Given the description of an element on the screen output the (x, y) to click on. 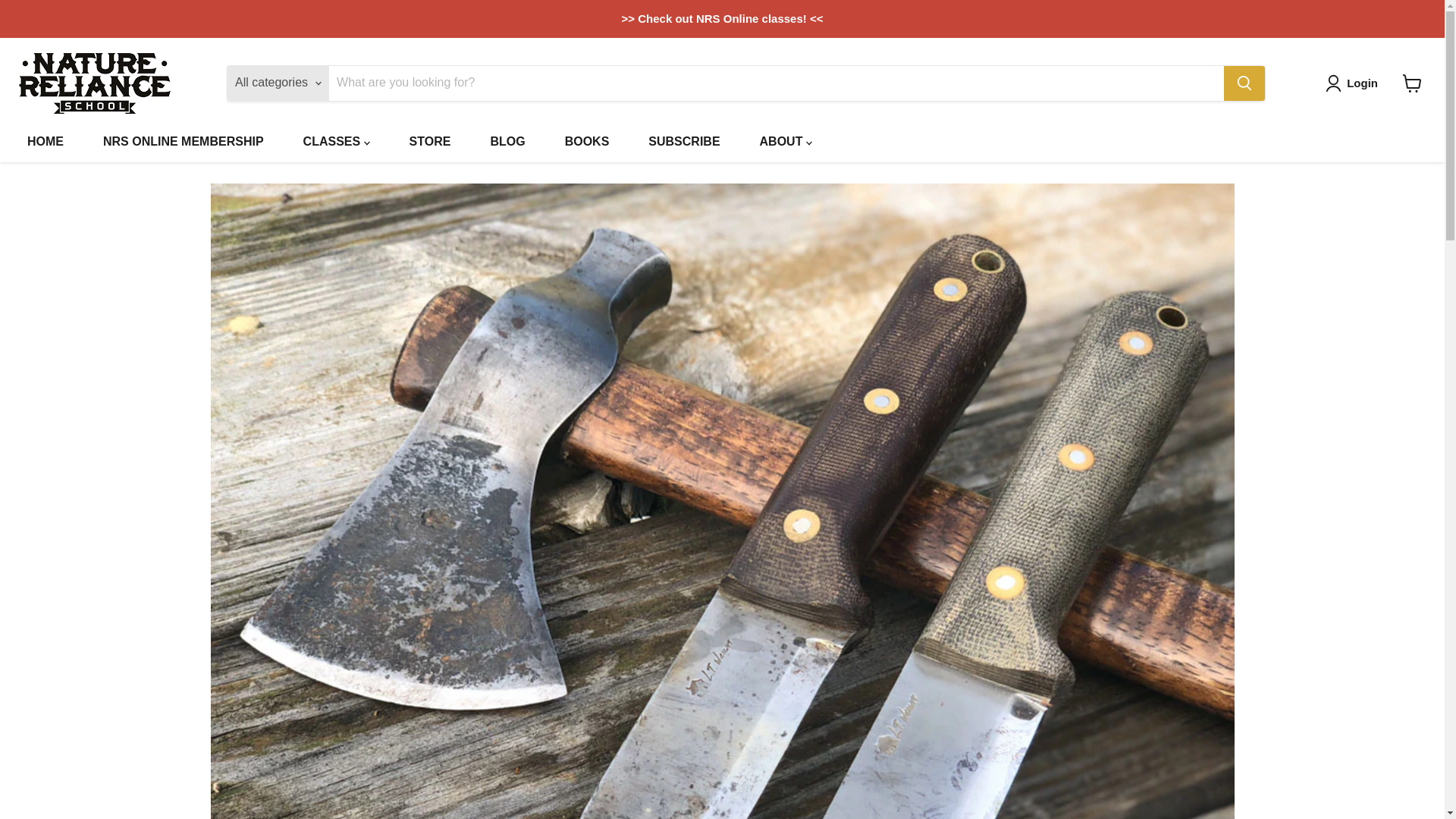
STORE (430, 141)
View cart (1411, 82)
BLOG (507, 141)
Login (1354, 83)
BOOKS (586, 141)
NRS ONLINE MEMBERSHIP (182, 141)
HOME (44, 141)
SUBSCRIBE (683, 141)
